Given the description of an element on the screen output the (x, y) to click on. 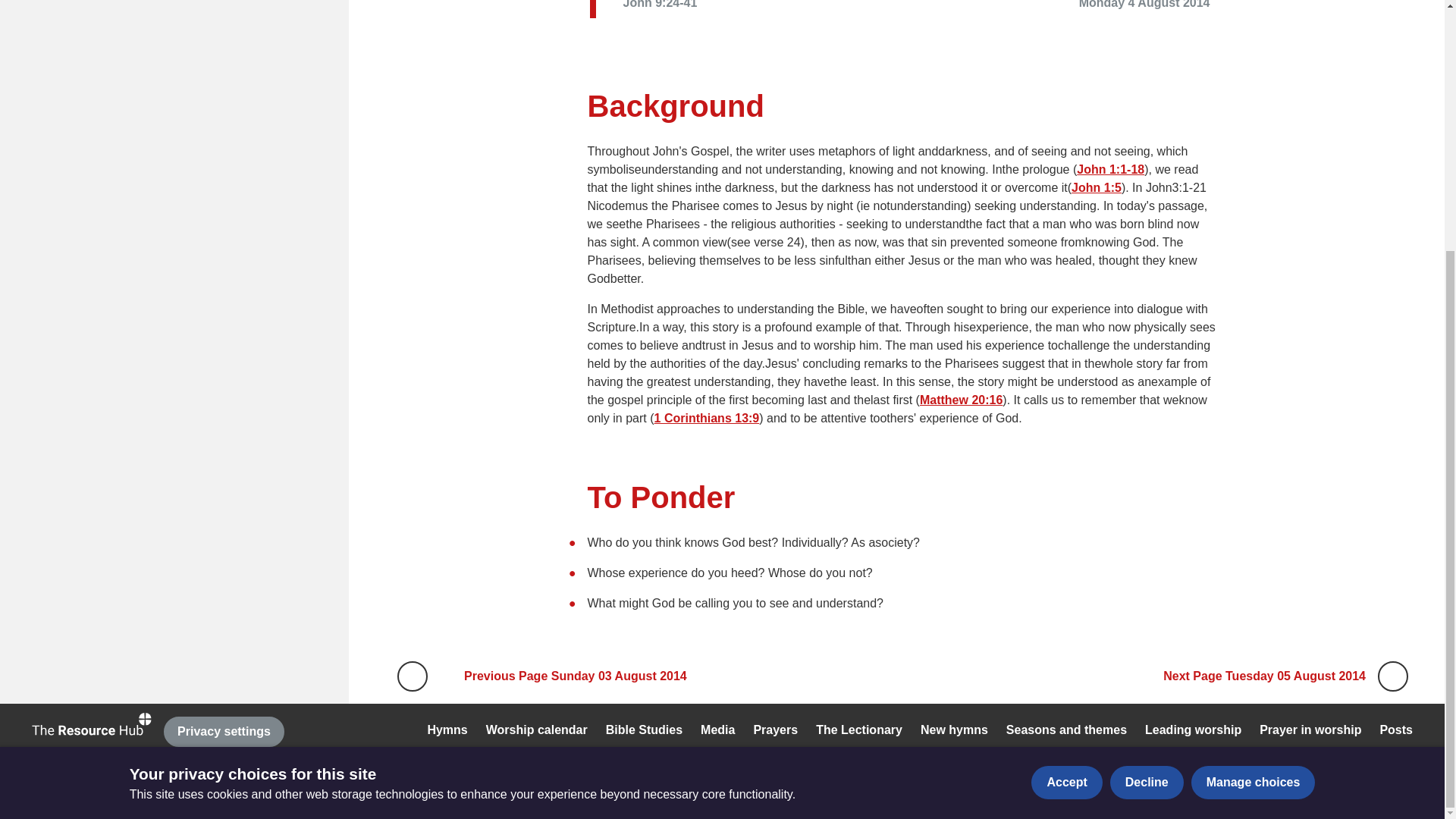
John 1:1-18 (1110, 169)
John 9:24-41 (663, 9)
